Given the description of an element on the screen output the (x, y) to click on. 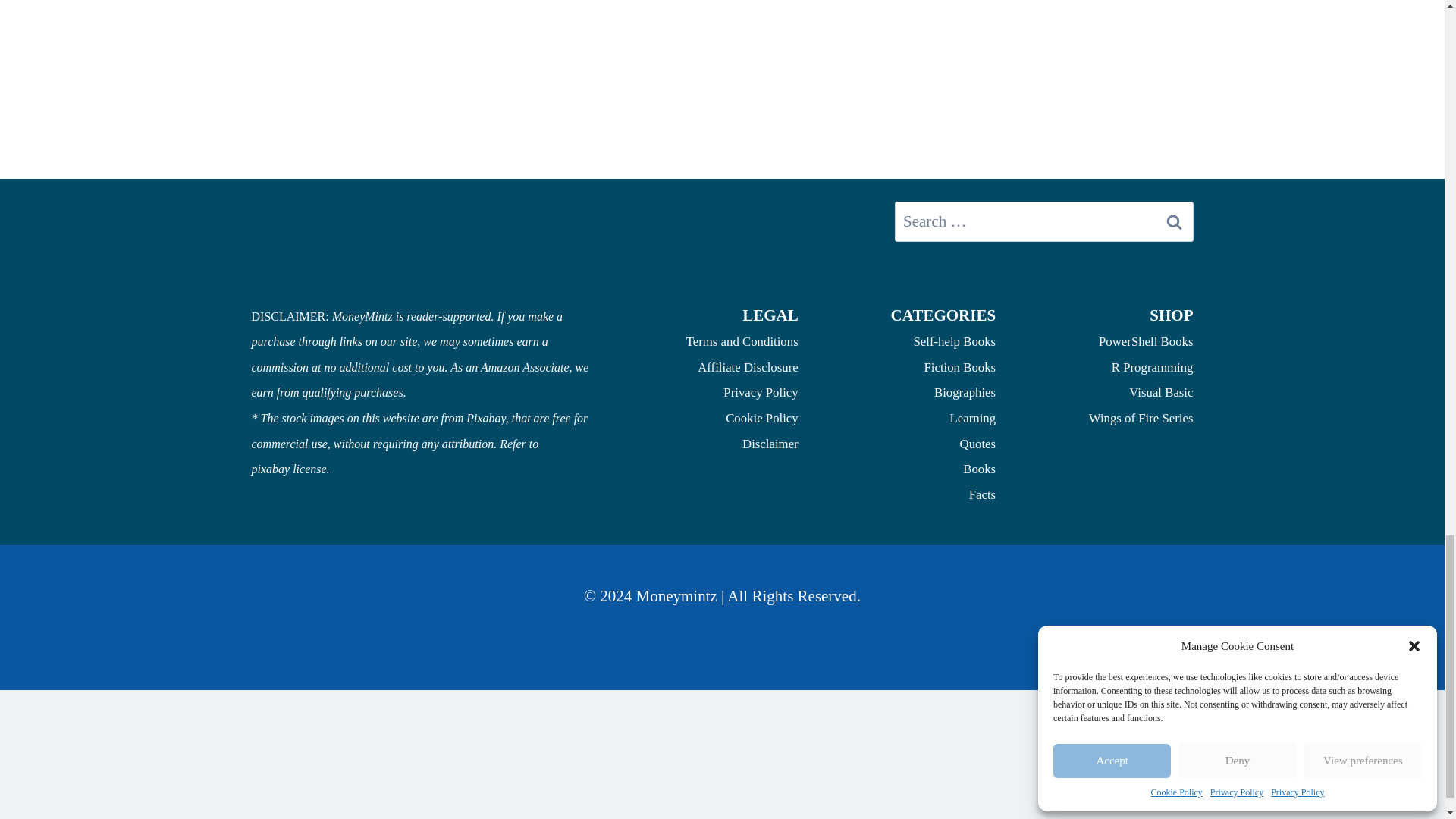
Search (1174, 220)
Search (1174, 220)
Terms and Conditions (741, 341)
Disclaimer (769, 443)
Search (1174, 220)
Cookie Policy (761, 418)
license. (310, 468)
Self-help Books (953, 341)
Privacy Policy (760, 391)
Advertisement (721, 731)
Advertisement (721, 137)
Affiliate Disclosure (747, 367)
Advertisement (721, 796)
Advertisement (721, 17)
